Given the description of an element on the screen output the (x, y) to click on. 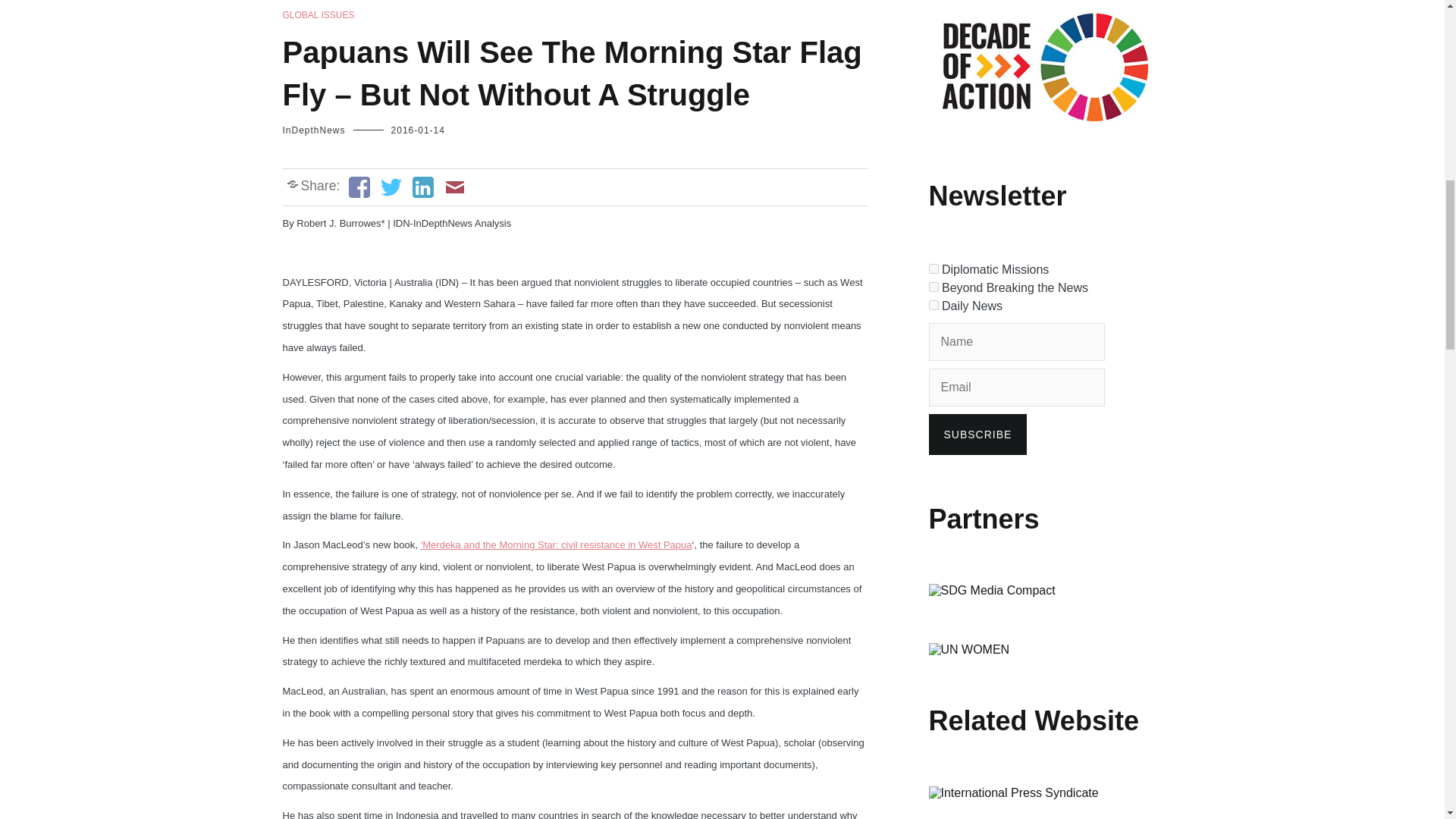
10 (932, 305)
Subscribe (977, 434)
8 (932, 268)
9 (932, 286)
